Given the description of an element on the screen output the (x, y) to click on. 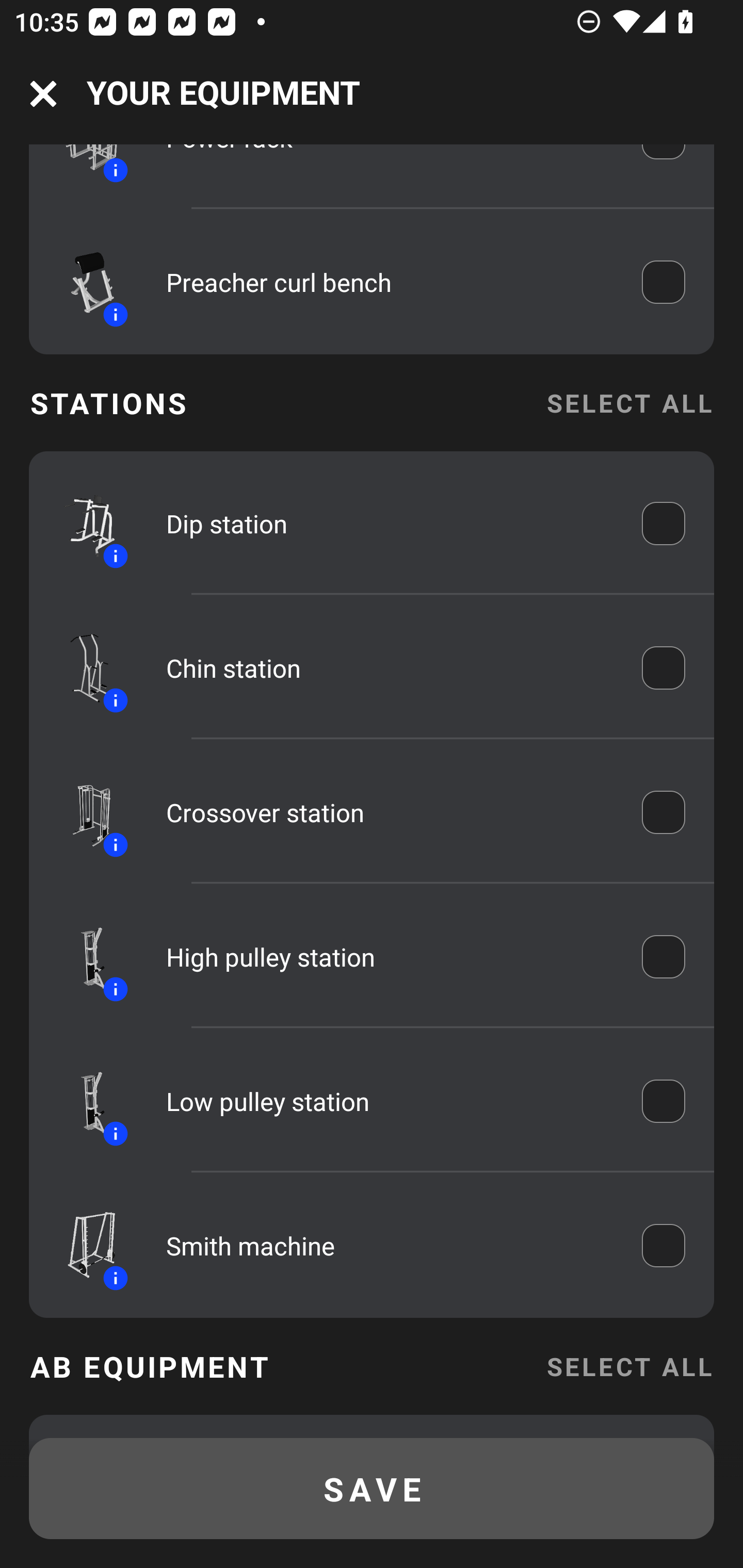
Navigation icon (43, 93)
Equipment icon Information icon (82, 281)
Preacher curl bench (389, 282)
SELECT ALL (629, 402)
Equipment icon Information icon (82, 522)
Dip station (389, 523)
Equipment icon Information icon (82, 667)
Chin station (389, 667)
Equipment icon Information icon (82, 812)
Crossover station (389, 812)
Equipment icon Information icon (82, 957)
High pulley station (389, 957)
Equipment icon Information icon (82, 1101)
Low pulley station (389, 1101)
Equipment icon Information icon (82, 1245)
Smith machine (389, 1245)
SELECT ALL (629, 1366)
SAVE (371, 1488)
